Given the description of an element on the screen output the (x, y) to click on. 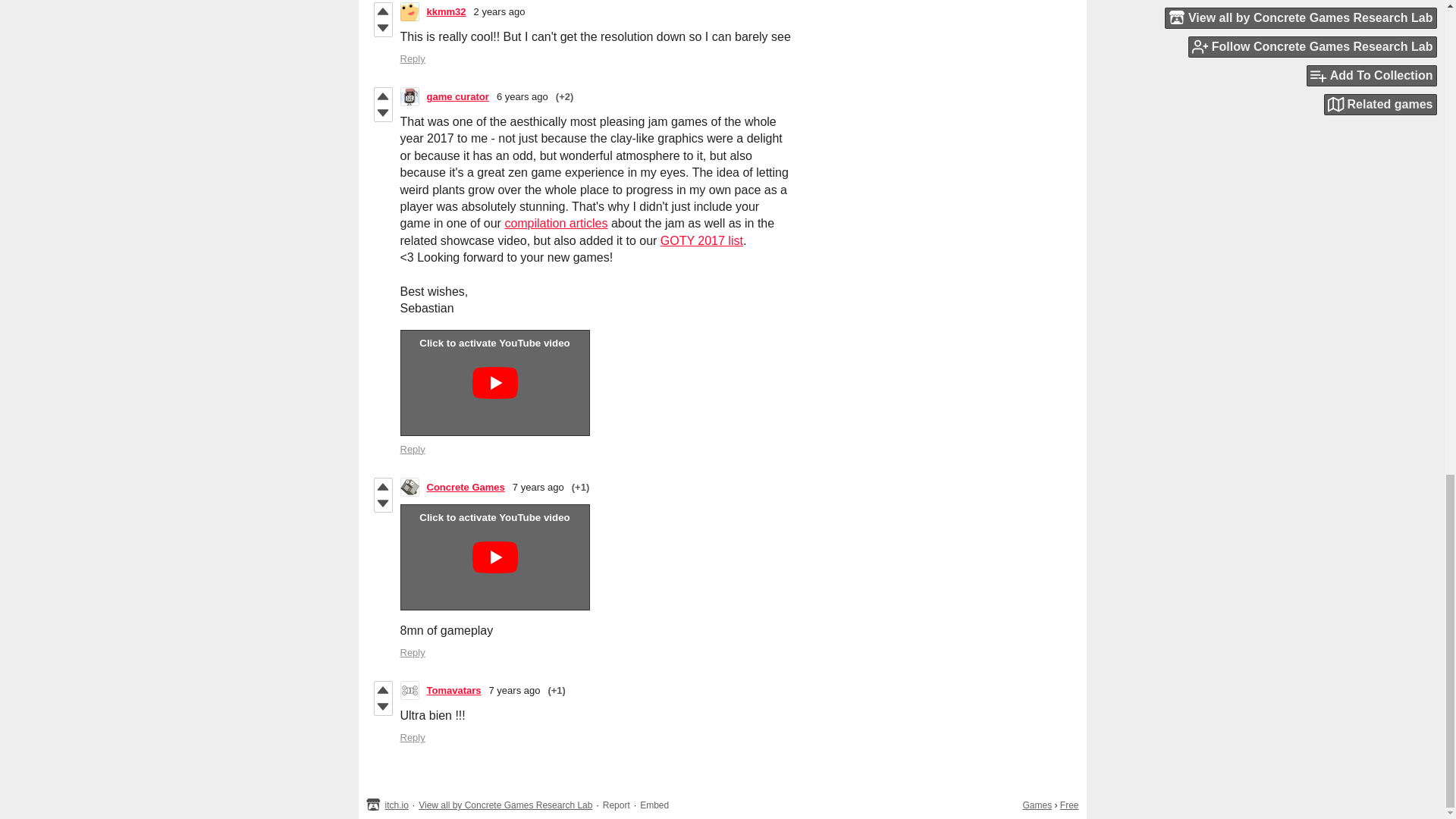
Vote down (382, 27)
2018-04-08 12:57:55 (522, 96)
Vote up (382, 486)
Vote down (382, 112)
kkmm32 (445, 11)
Vote up (382, 11)
Vote up (382, 95)
2022-04-30 21:55:09 (499, 11)
Vote down (382, 503)
